Given the description of an element on the screen output the (x, y) to click on. 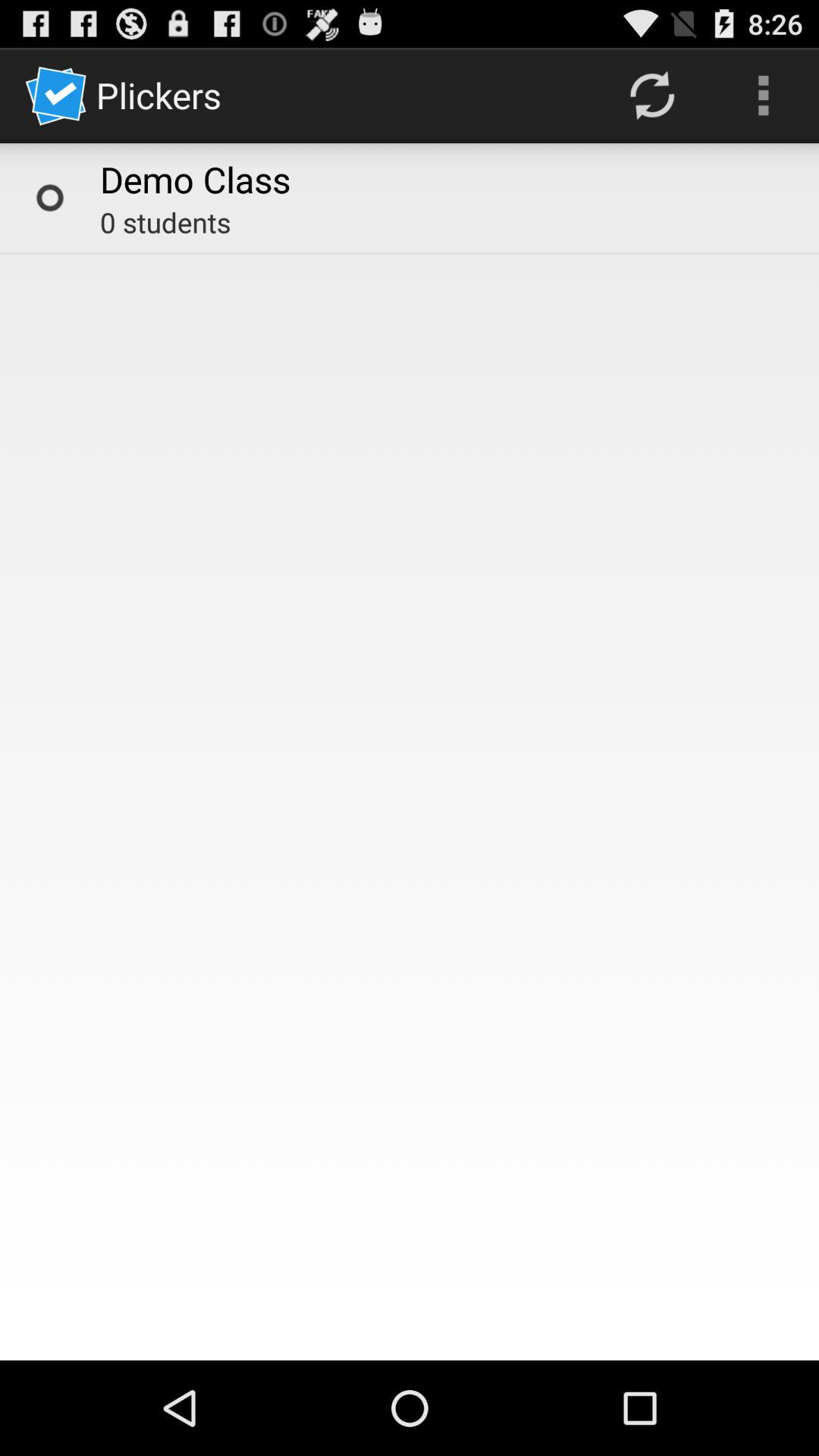
turn on icon below demo class icon (165, 222)
